Given the description of an element on the screen output the (x, y) to click on. 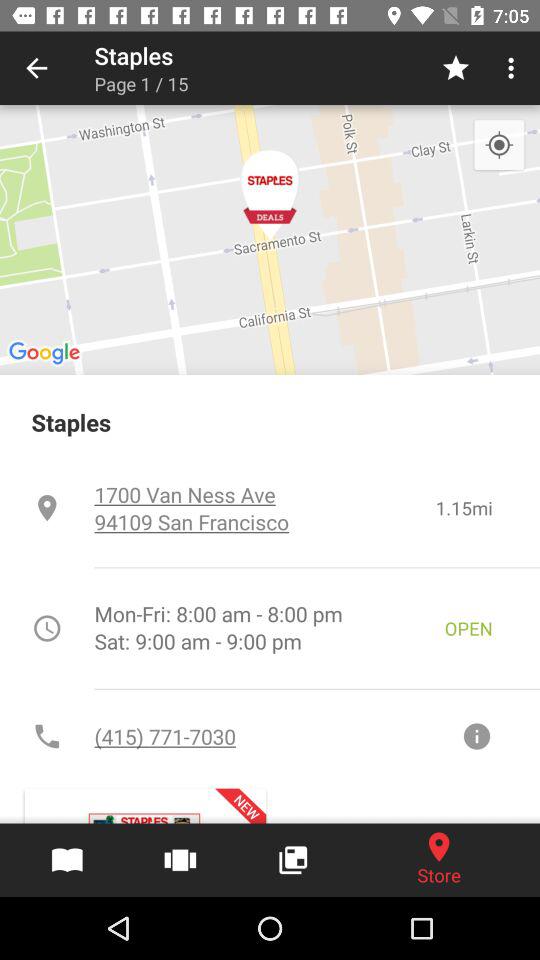
launch the app to the right of the page 1 / 15 (455, 67)
